Given the description of an element on the screen output the (x, y) to click on. 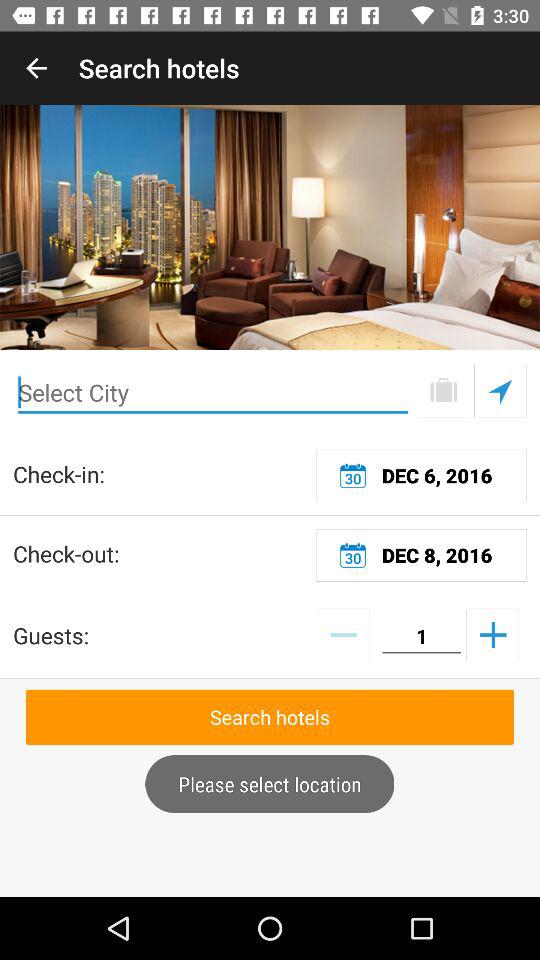
look up city (443, 390)
